Given the description of an element on the screen output the (x, y) to click on. 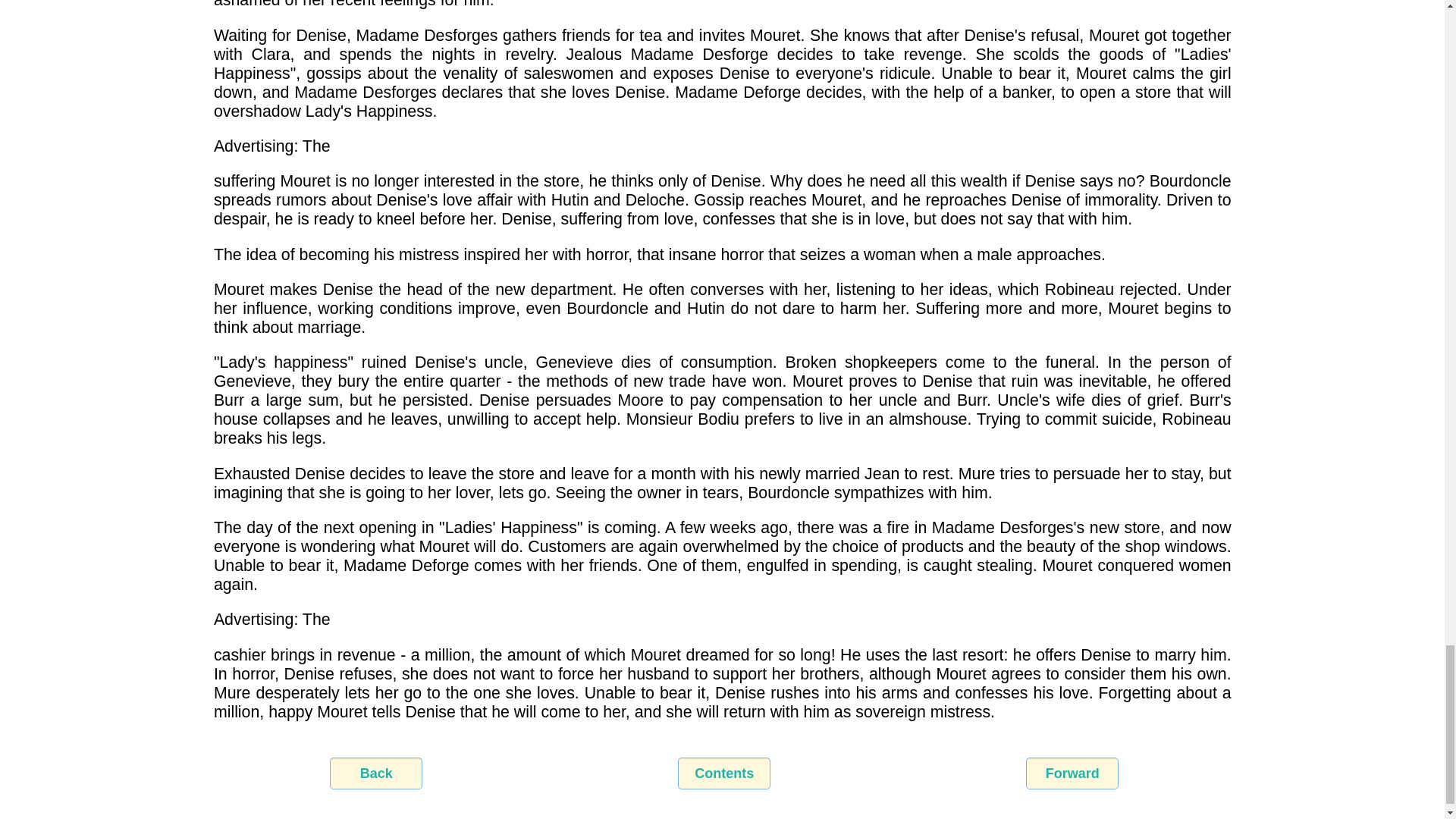
Back (376, 773)
Contents (724, 773)
Forward (1072, 773)
